Given the description of an element on the screen output the (x, y) to click on. 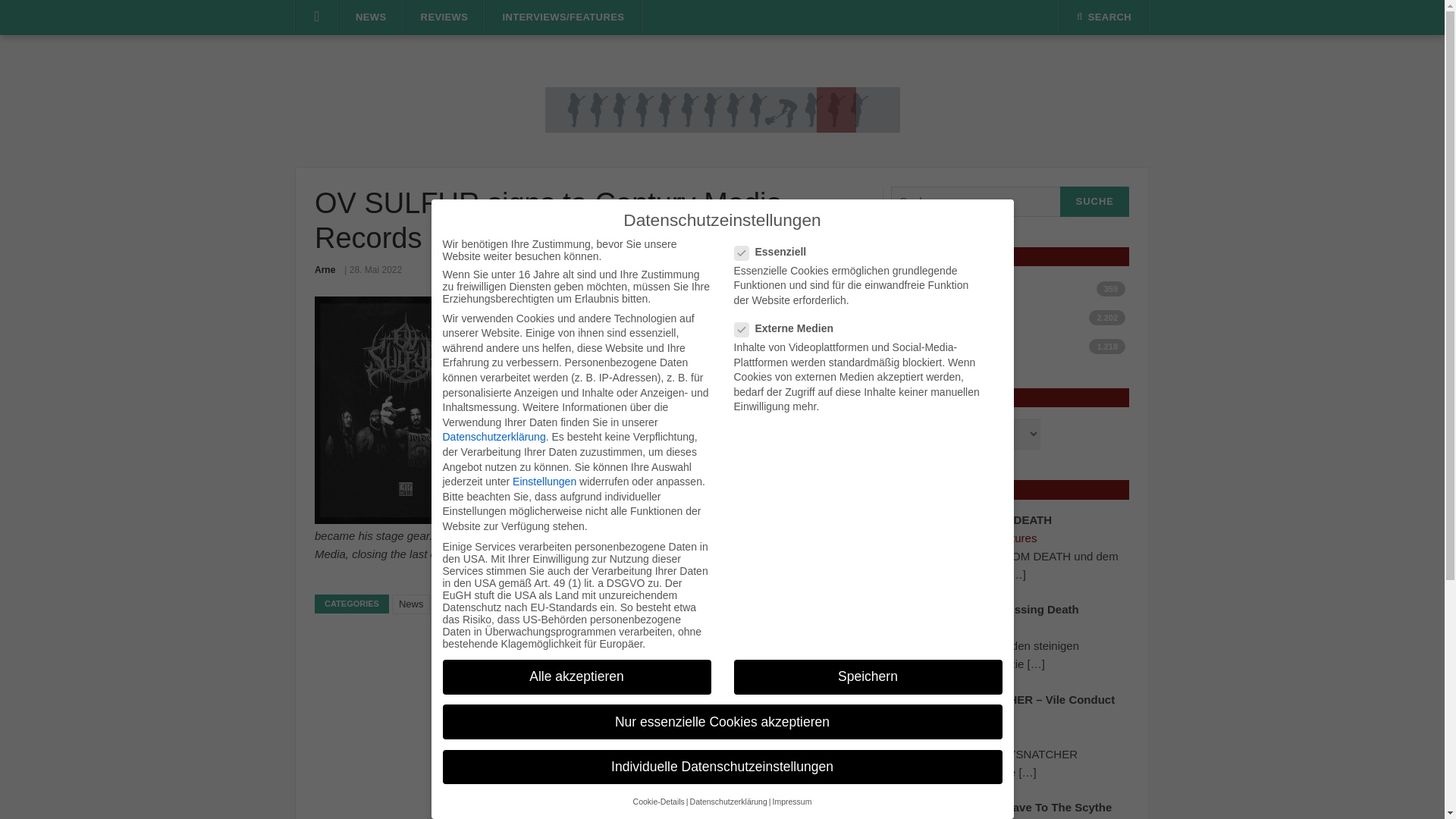
Alle akzeptieren (576, 677)
Nur essenzielle Cookies akzeptieren (722, 721)
Suche (1094, 201)
DISCO FROM DEATH (994, 519)
Arne (324, 269)
News (1014, 317)
NEWS (371, 17)
REVIEWS (444, 17)
Speichern (868, 677)
Cookie-Details (658, 800)
News (410, 604)
Reviews (1014, 346)
SEARCH (1104, 16)
Suche (1094, 201)
